Given the description of an element on the screen output the (x, y) to click on. 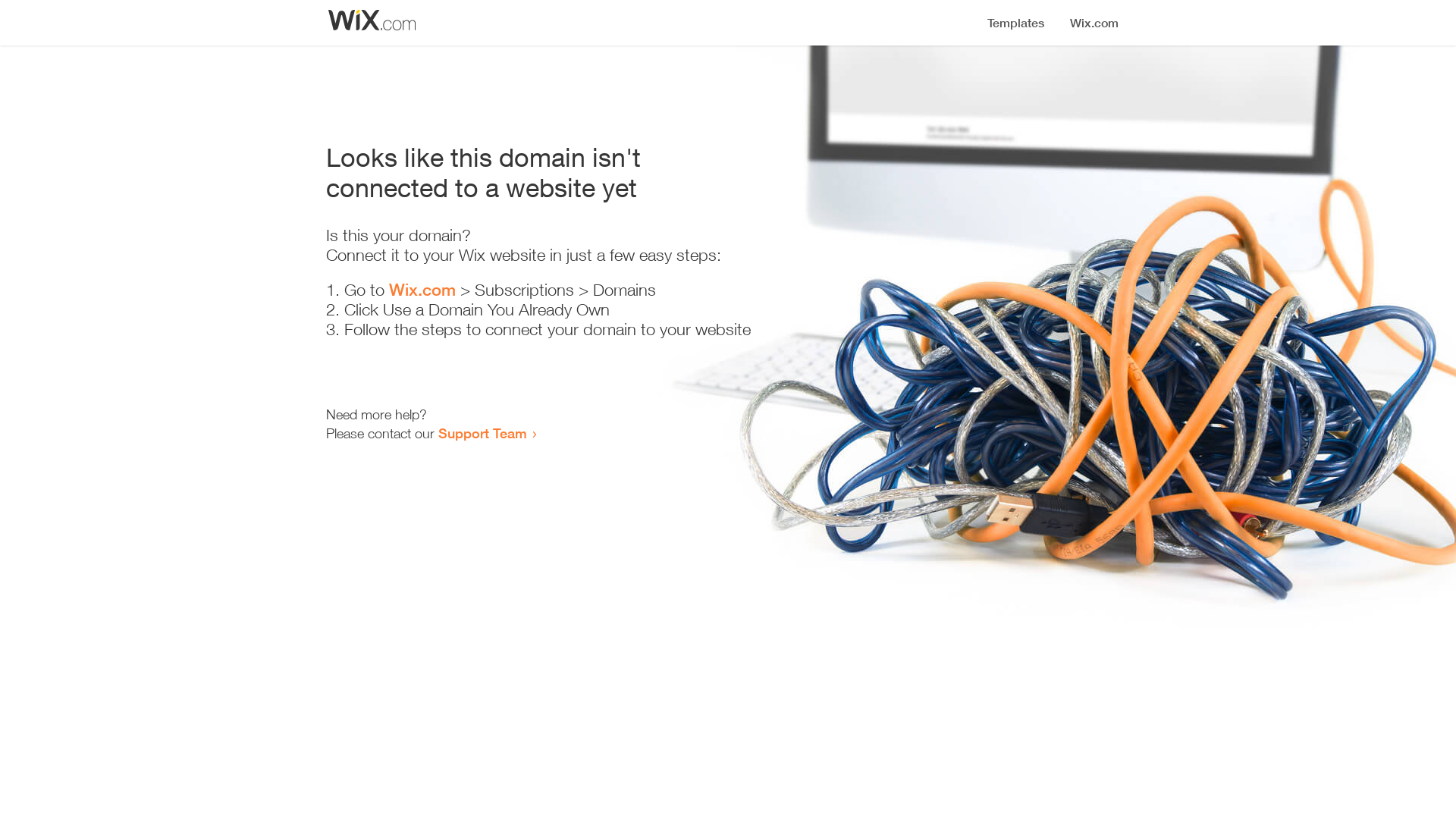
Wix.com Element type: text (422, 289)
Support Team Element type: text (482, 432)
